Given the description of an element on the screen output the (x, y) to click on. 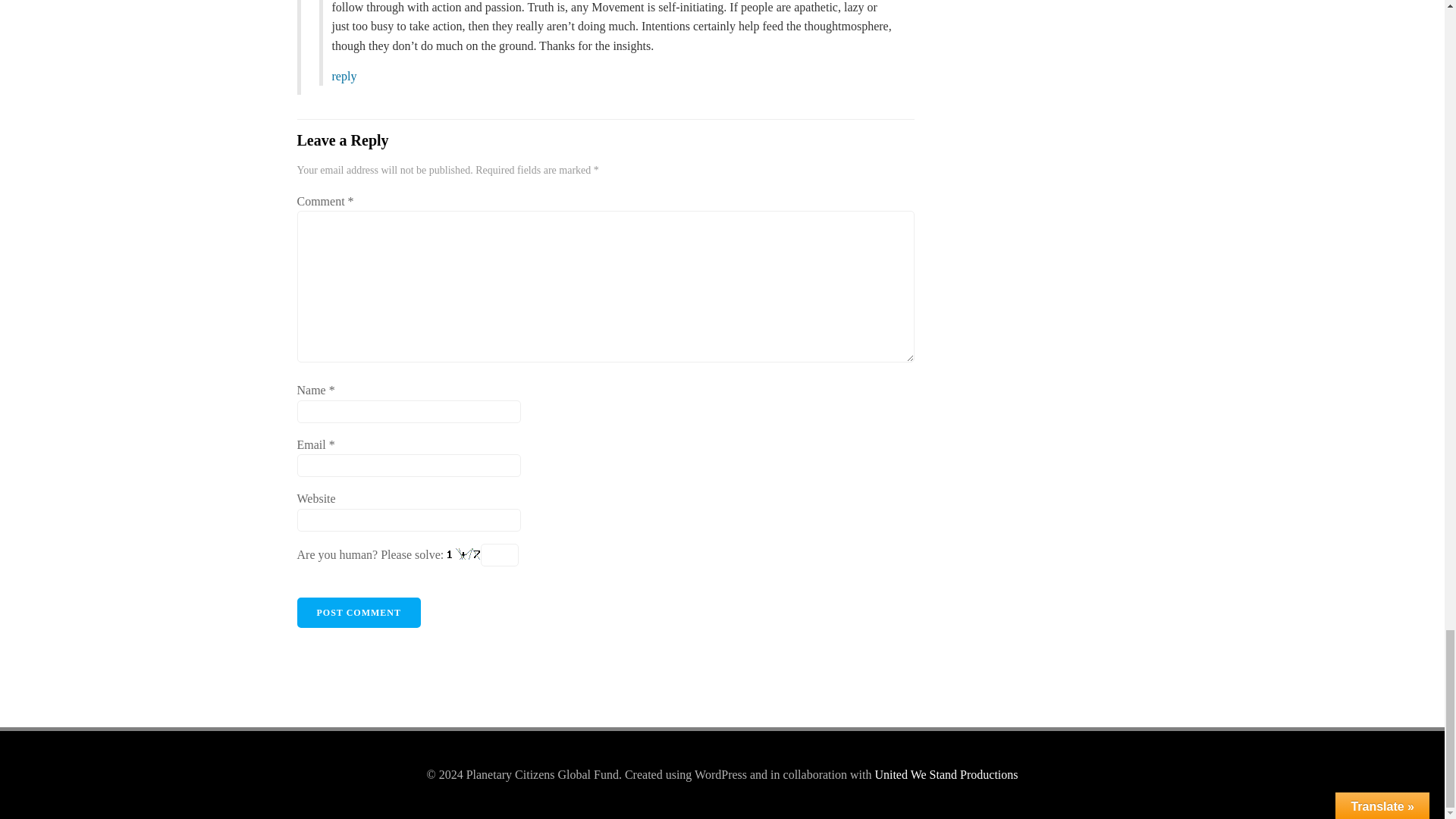
Post Comment (358, 612)
